Given the description of an element on the screen output the (x, y) to click on. 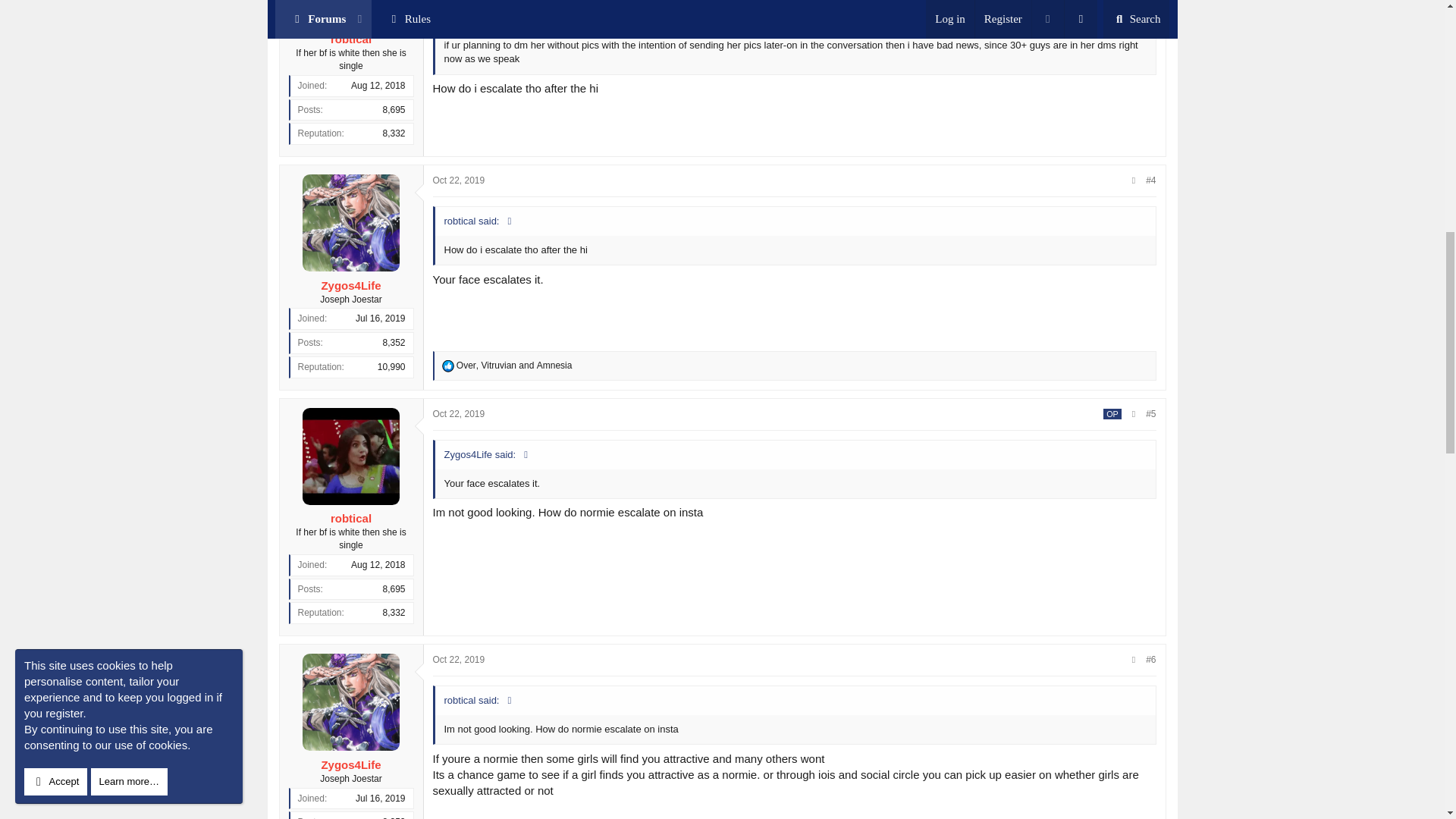
Oct 22, 2019 at 11:59 AM (458, 180)
Oct 22, 2019 at 12:02 PM (458, 659)
Oct 22, 2019 at 12:00 PM (458, 413)
